Given the description of an element on the screen output the (x, y) to click on. 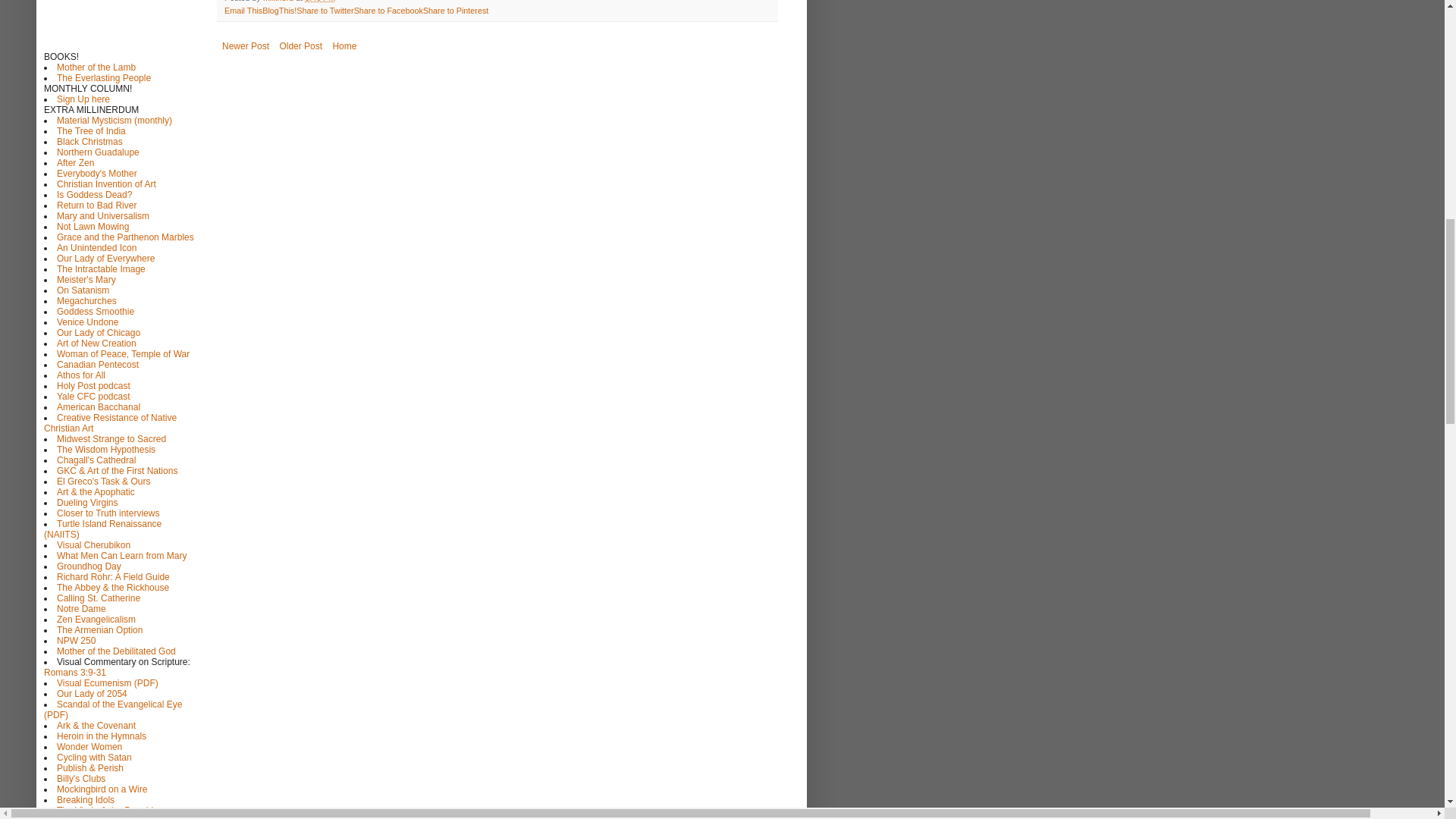
Email This (243, 10)
Share to Facebook (388, 10)
Share to Pinterest (455, 10)
The Tree of India (90, 131)
5:46 PM (319, 1)
Not Lawn Mowing (92, 226)
Share to Pinterest (455, 10)
Northern Guadalupe (97, 152)
Sign Up here (83, 99)
Share to Facebook (388, 10)
After Zen (75, 163)
Christian Invention of Art (105, 184)
Older Post (300, 45)
The Everlasting People (103, 77)
Return to Bad River (96, 204)
